Given the description of an element on the screen output the (x, y) to click on. 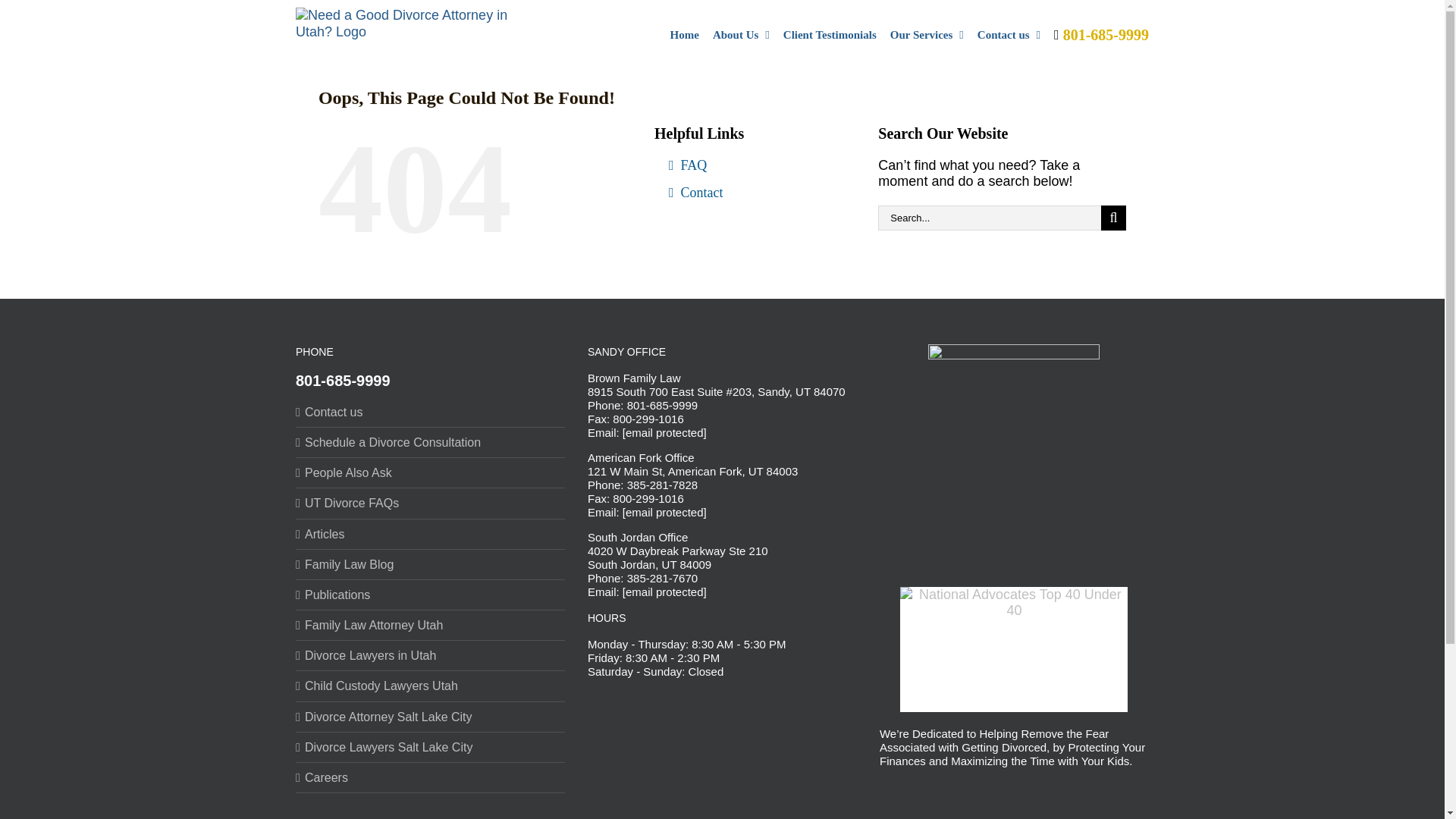
Divorce Lawyers in Utah (430, 655)
801-685-9999 (1101, 33)
Schedule a Divorce Consultation (430, 441)
Careers (430, 777)
Articles (430, 534)
Contact us (1008, 33)
People Also Ask (430, 472)
801-685-9999 (342, 380)
Family Law Attorney Utah (430, 625)
Contact us (430, 411)
